Given the description of an element on the screen output the (x, y) to click on. 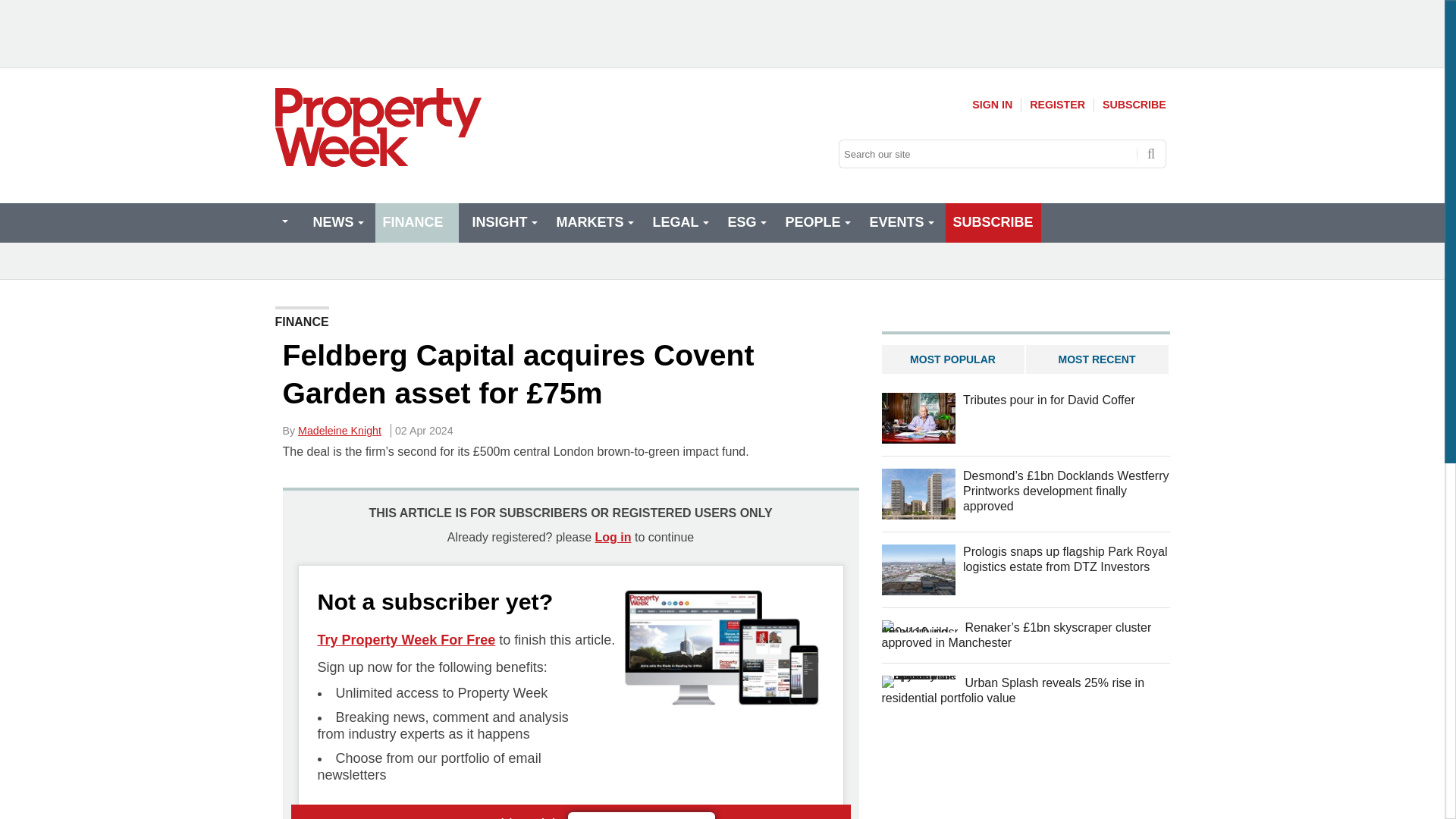
FINANCE (416, 222)
NEWS (336, 222)
Property Week (377, 127)
HOME (283, 221)
SIGN IN (991, 105)
SUBSCRIBE (1134, 105)
Posts by Madeleine Knight (339, 430)
Search (1151, 153)
REGISTER (1056, 105)
